Given the description of an element on the screen output the (x, y) to click on. 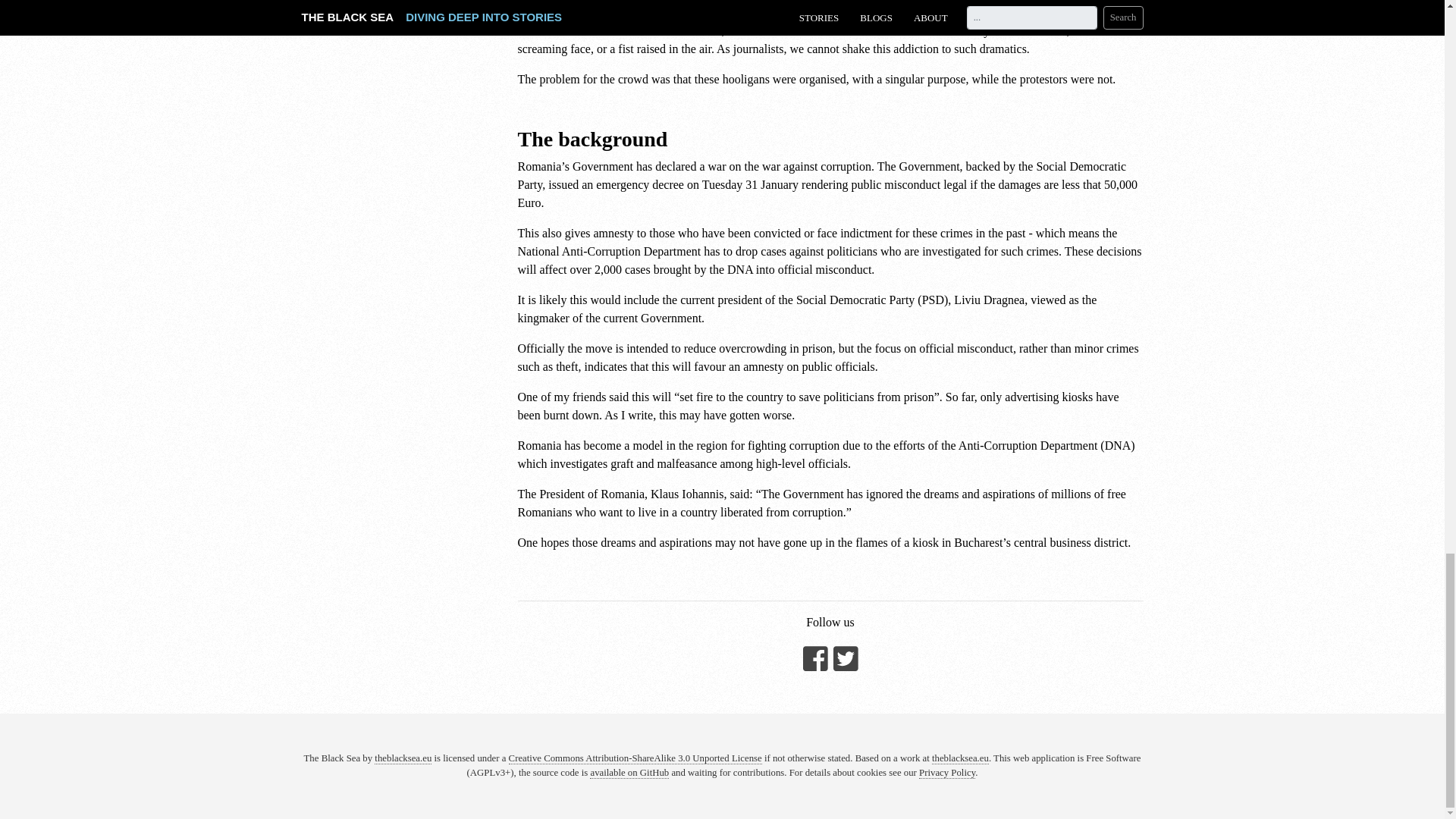
theblacksea.eu (402, 758)
theblacksea.eu (959, 758)
Privacy Policy (946, 772)
Creative Commons Attribution-ShareAlike 3.0 Unported License (634, 758)
available on GitHub (628, 772)
